Given the description of an element on the screen output the (x, y) to click on. 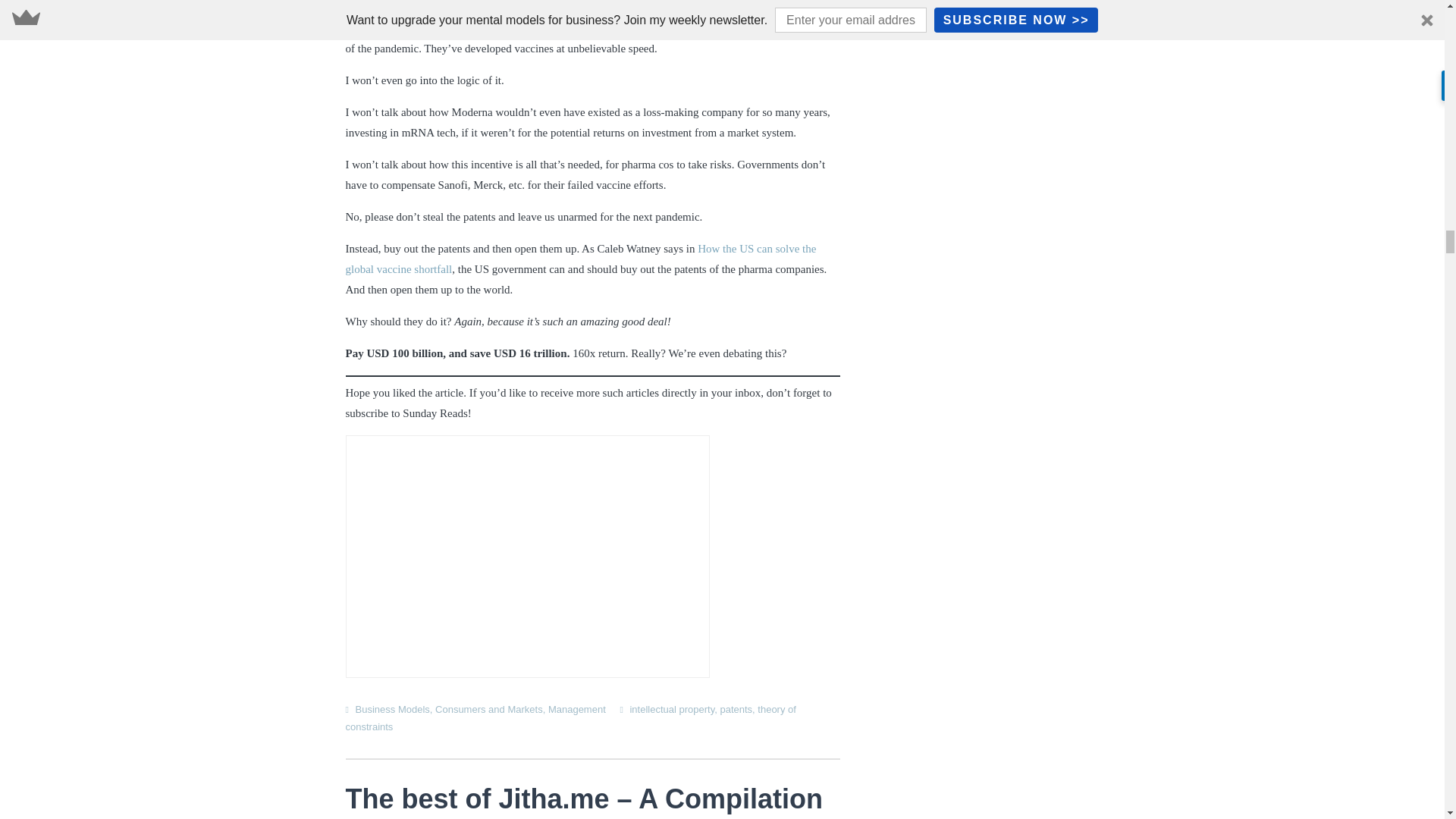
link (767, 1)
